Given the description of an element on the screen output the (x, y) to click on. 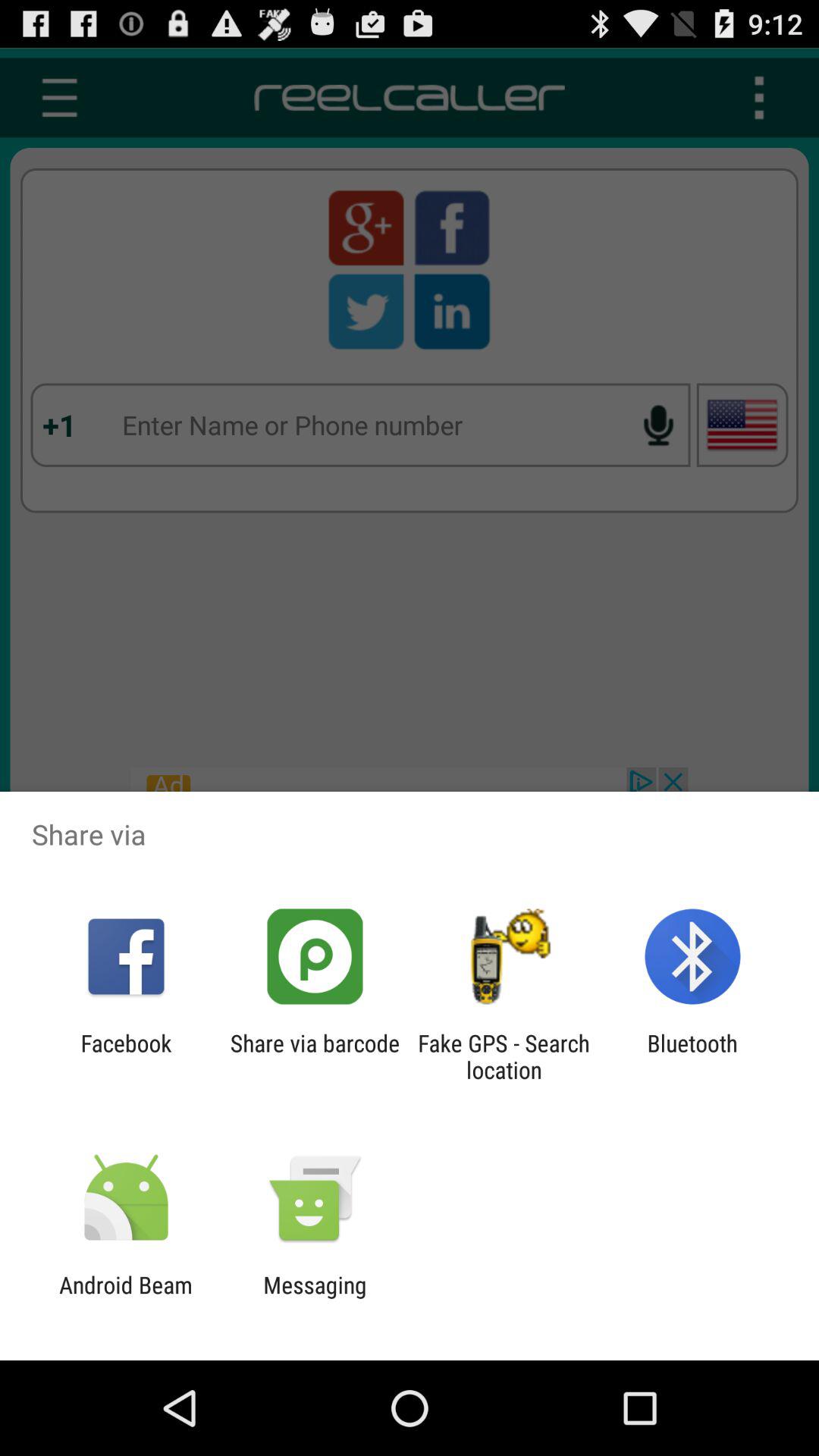
turn off icon next to bluetooth (503, 1056)
